Given the description of an element on the screen output the (x, y) to click on. 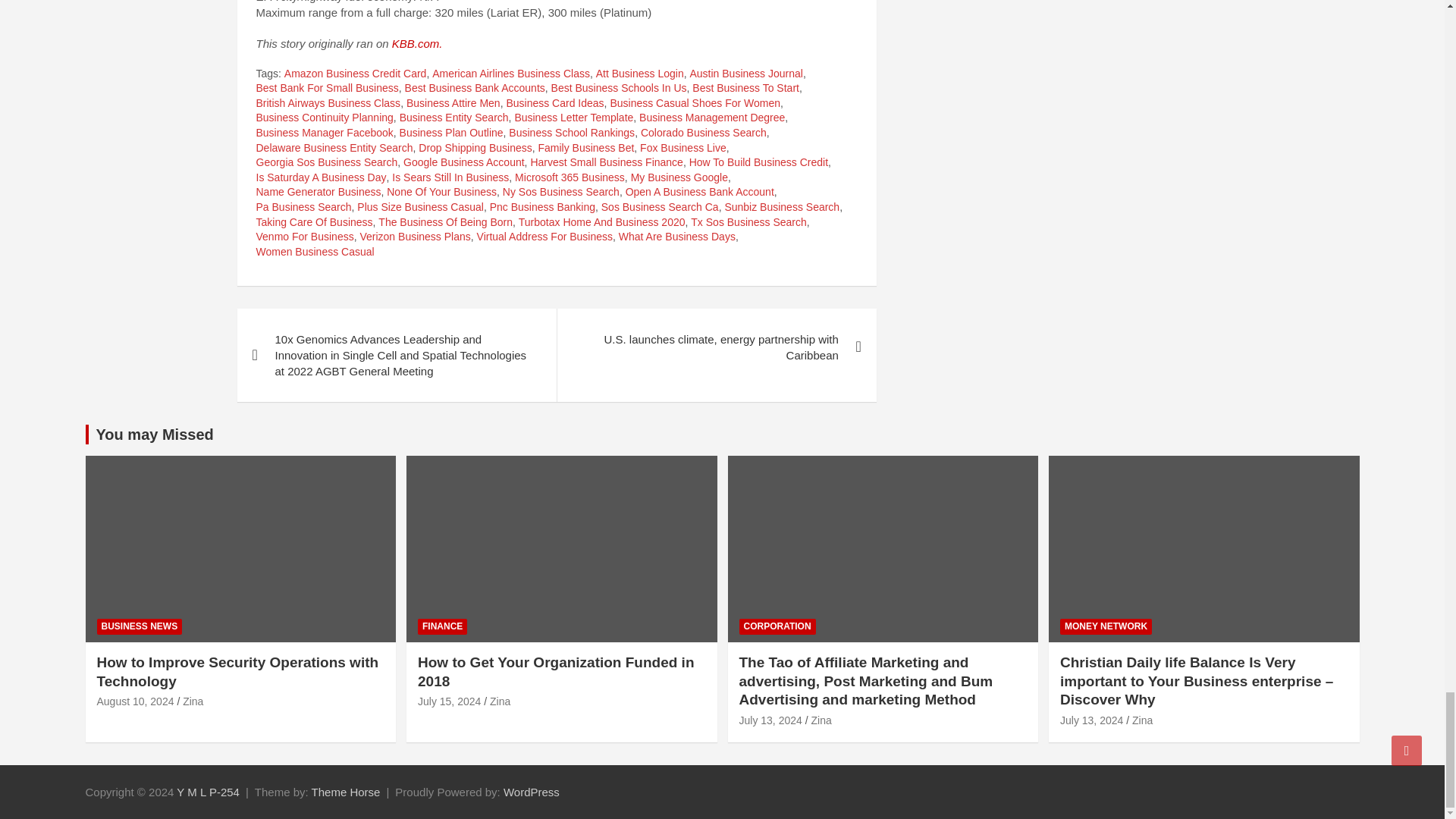
Best Business Schools In Us (619, 88)
Austin Business Journal (745, 73)
Amazon Business Credit Card (354, 73)
Best Business To Start (746, 88)
KBB.com. (416, 42)
Best Bank For Small Business (327, 88)
American Airlines Business Class (510, 73)
Att Business Login (639, 73)
Best Business Bank Accounts (474, 88)
